Given the description of an element on the screen output the (x, y) to click on. 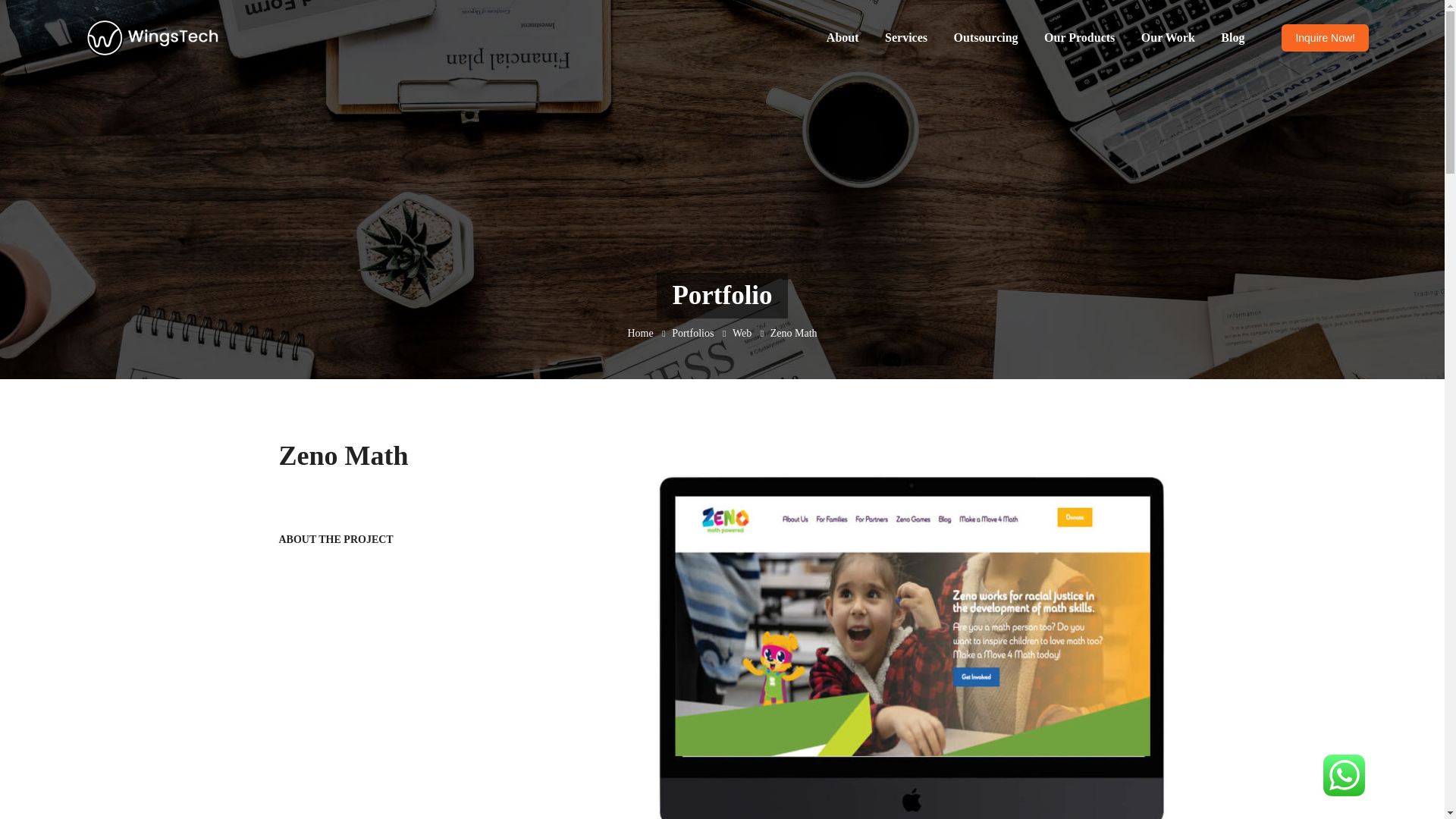
Outsourcing (985, 38)
